Given the description of an element on the screen output the (x, y) to click on. 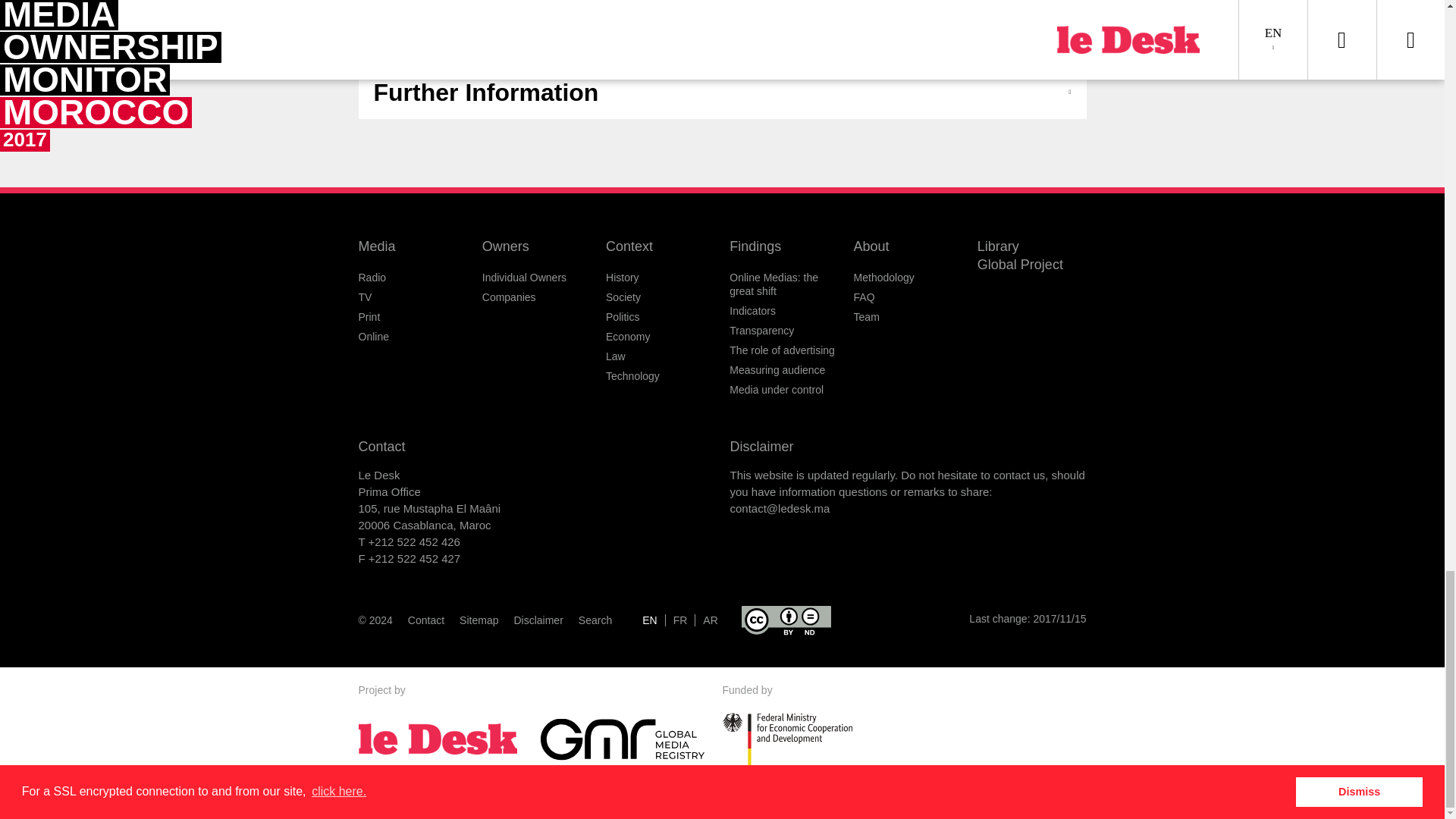
Indicators (752, 310)
Politics (622, 316)
Law (615, 356)
Federal Ministry for Economic Cooperation and Development (786, 738)
Society (622, 297)
Online Medias: the great shift (773, 284)
Owners (505, 246)
Economy (627, 336)
Federal Ministry for Economic Cooperation and Development (813, 739)
Radio (371, 277)
Le Desk (449, 739)
TV (364, 297)
Transparency (761, 330)
Online (373, 336)
The role of advertising (781, 349)
